Given the description of an element on the screen output the (x, y) to click on. 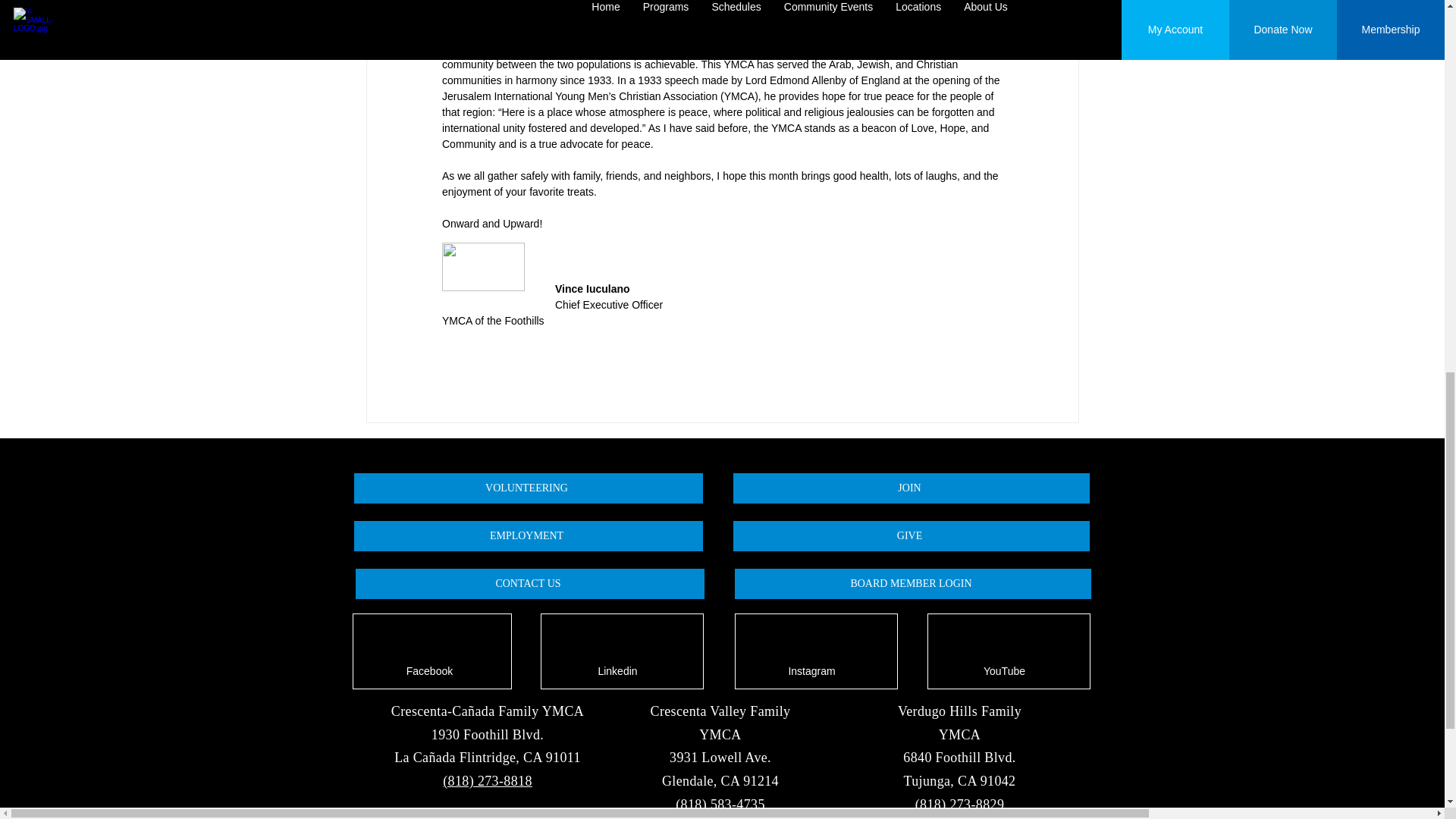
EMPLOYMENT (527, 535)
VOLUNTEERING (527, 488)
